Given the description of an element on the screen output the (x, y) to click on. 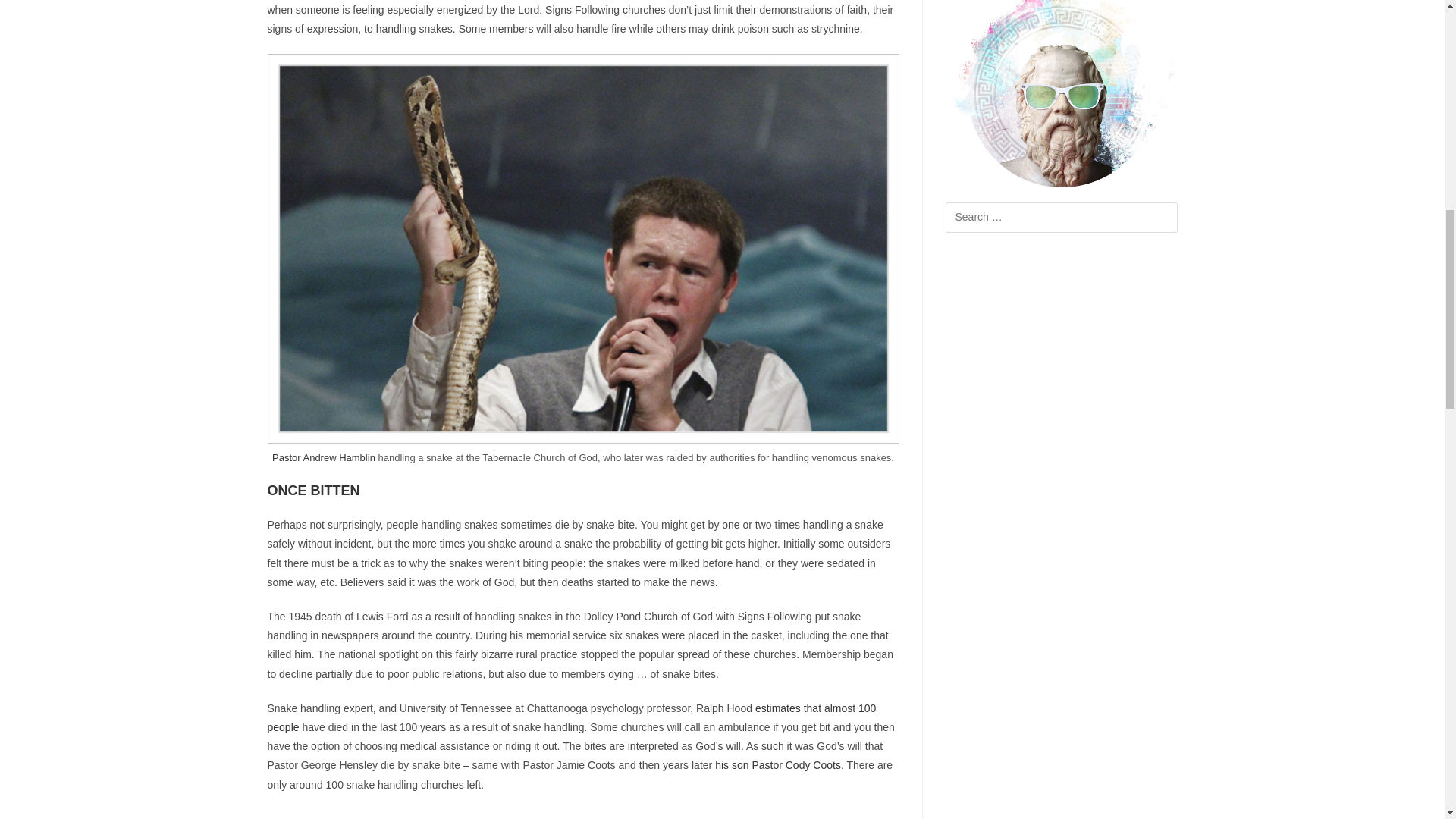
Pastor Andrew Hamblin (323, 457)
estimates that almost 100 people (571, 717)
Search for: (1060, 217)
his son Pastor Cody Coots (777, 765)
